Given the description of an element on the screen output the (x, y) to click on. 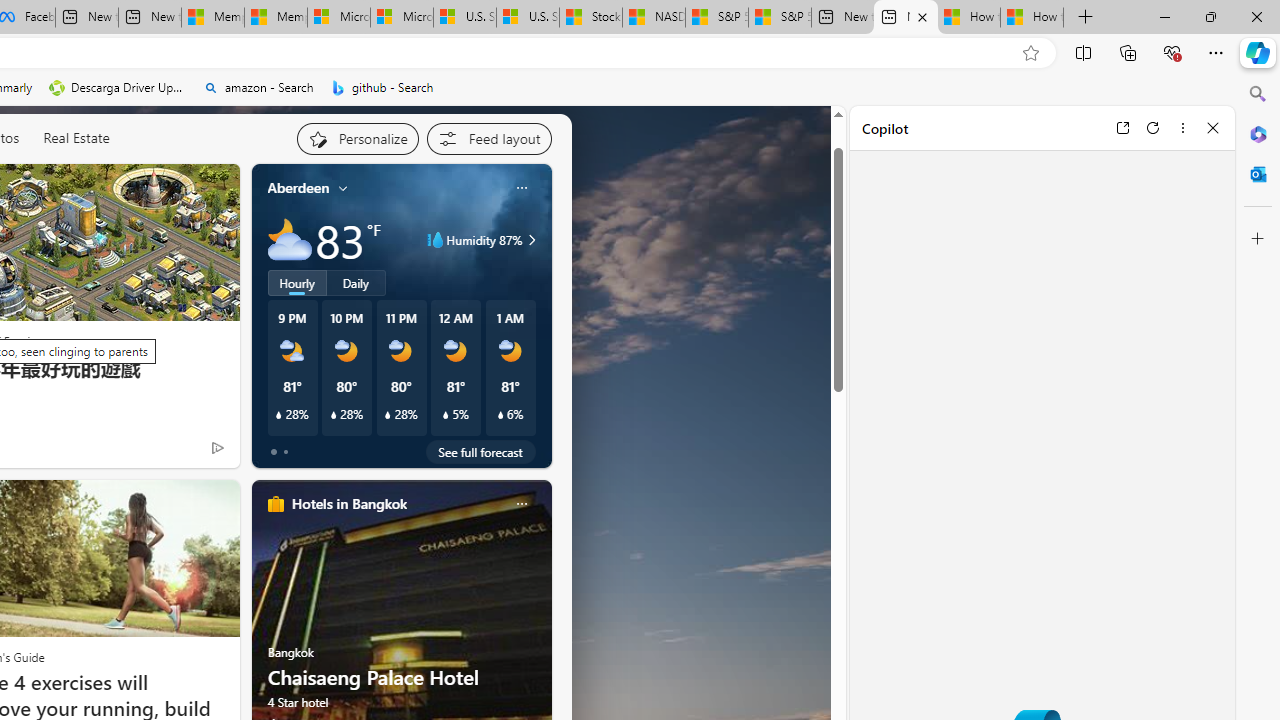
Aberdeen (298, 188)
Real Estate (76, 137)
Daily (356, 282)
Customize (1258, 239)
Mostly cloudy (289, 240)
Descarga Driver Updater (118, 88)
See more (207, 187)
tab-0 (273, 451)
Hide this story (171, 187)
